Given the description of an element on the screen output the (x, y) to click on. 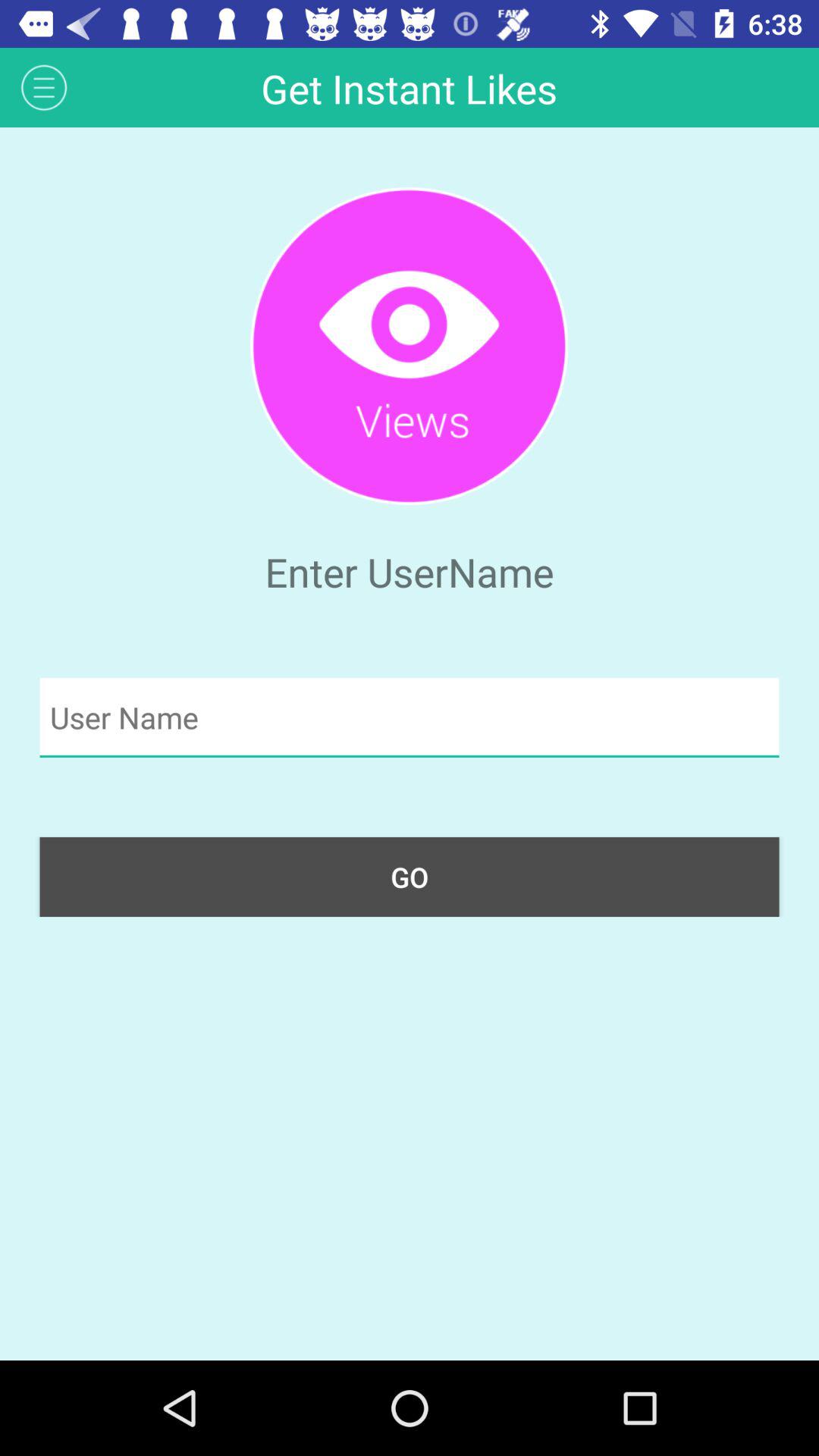
open the go button (409, 876)
